Given the description of an element on the screen output the (x, y) to click on. 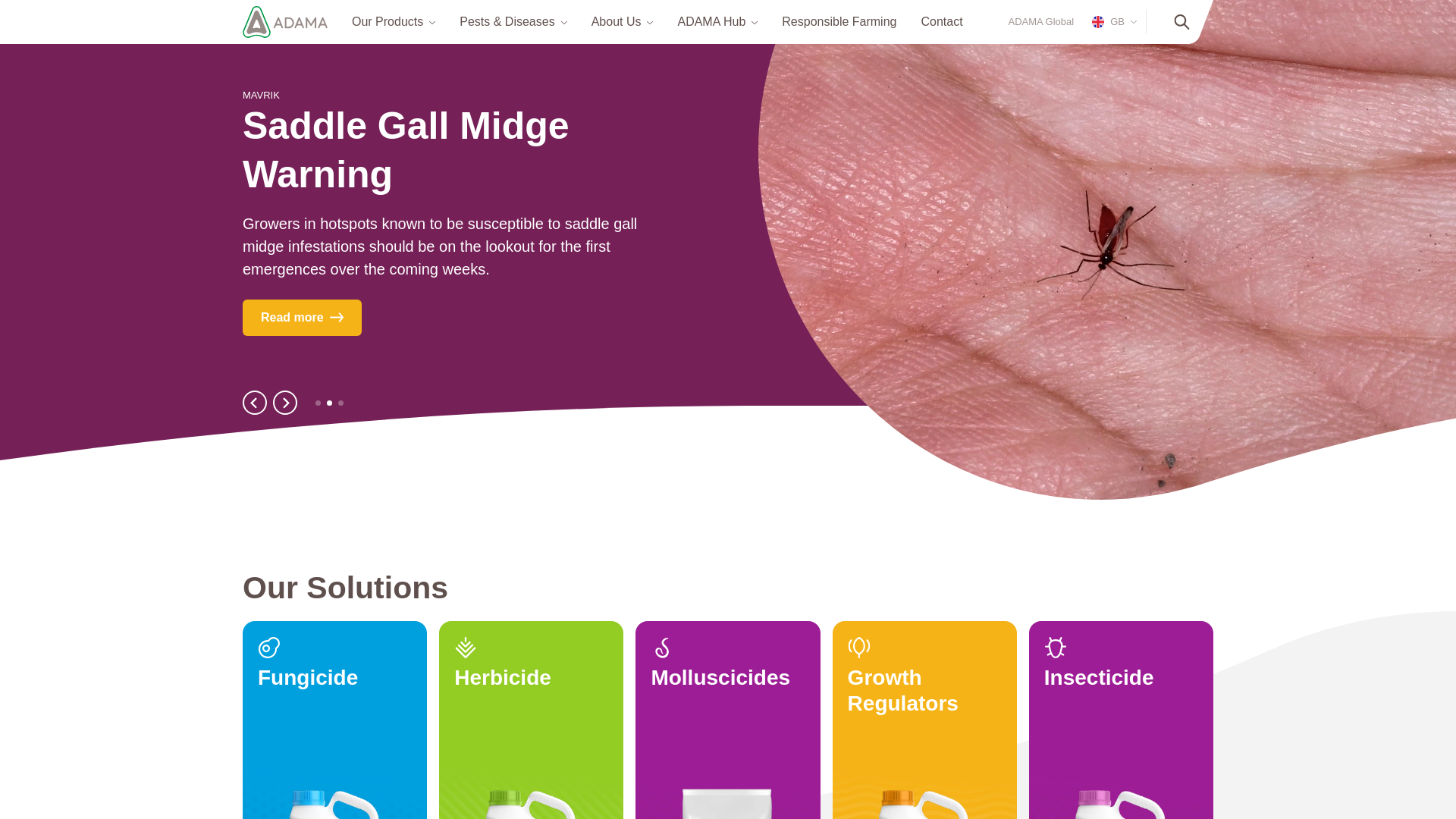
Responsible Farming (838, 21)
Contact (941, 21)
Our Products (387, 21)
ADAMA Hub (711, 21)
ADAMA Global (1041, 21)
About Us (616, 21)
GB (1111, 21)
Read more (302, 317)
